Given the description of an element on the screen output the (x, y) to click on. 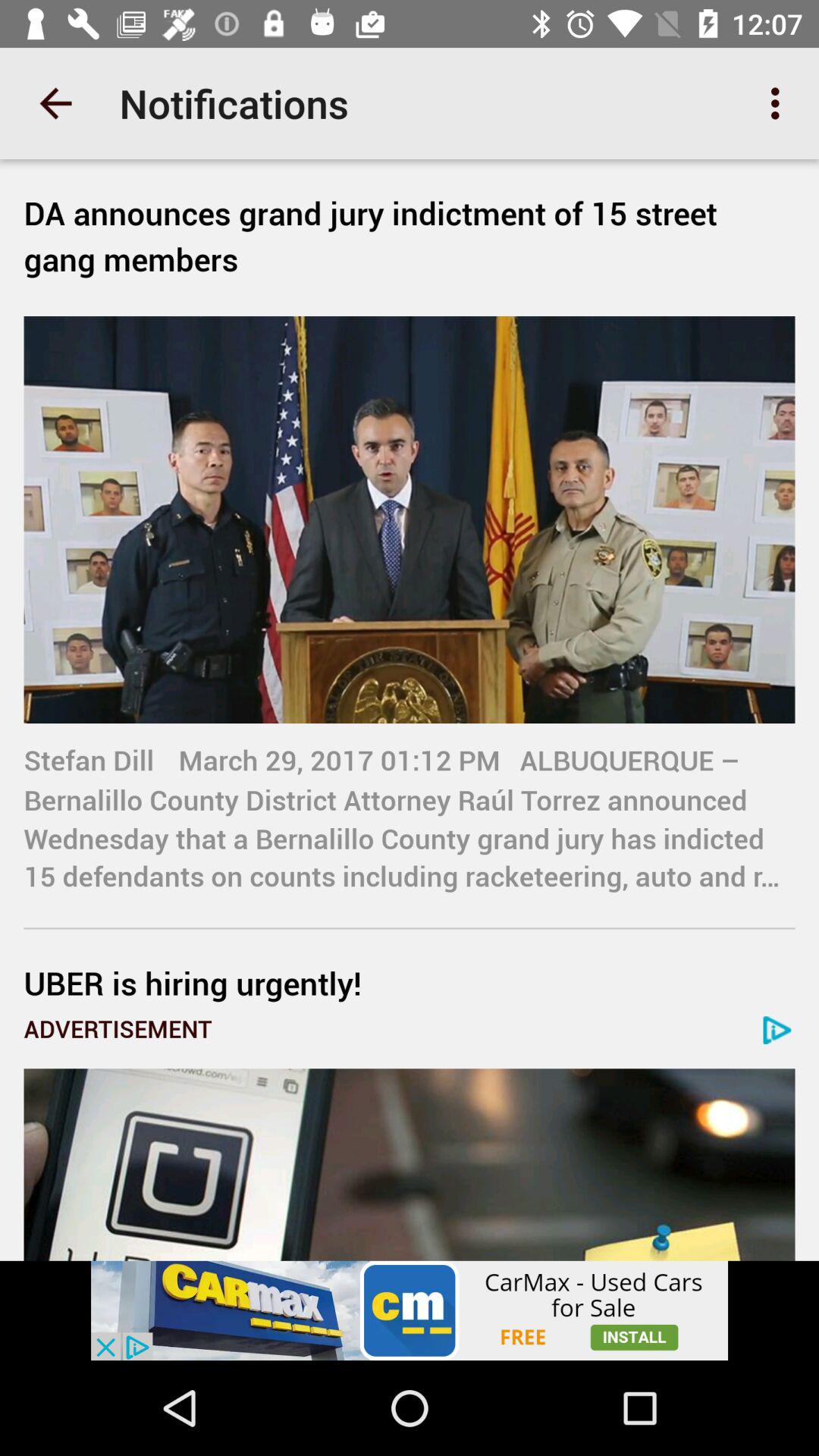
turn off the icon above the da announces grand (55, 103)
